Given the description of an element on the screen output the (x, y) to click on. 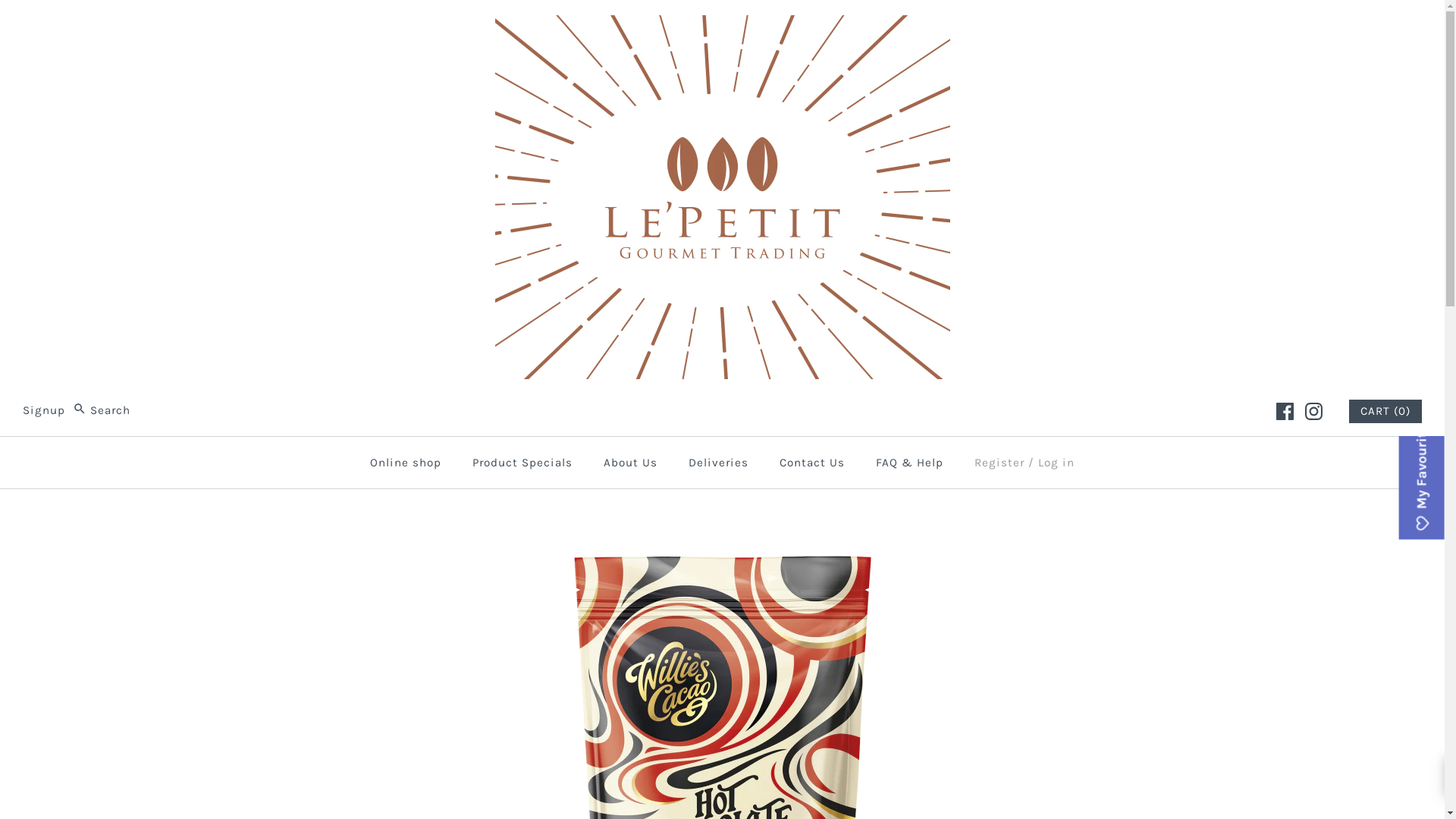
FAQ & Help Element type: text (909, 462)
CART (0) Element type: text (1385, 411)
Instagram Element type: text (1313, 411)
Register Element type: text (999, 462)
Product Specials Element type: text (522, 462)
Contact Us Element type: text (811, 462)
Deliveries Element type: text (718, 462)
Log in Element type: text (1056, 462)
Signup Element type: text (43, 410)
Facebook Element type: text (1284, 411)
Le'Petit Gourmet Trading Wholesalers and Distributors Element type: hover (721, 26)
About Us Element type: text (630, 462)
Online shop Element type: text (405, 462)
